Given the description of an element on the screen output the (x, y) to click on. 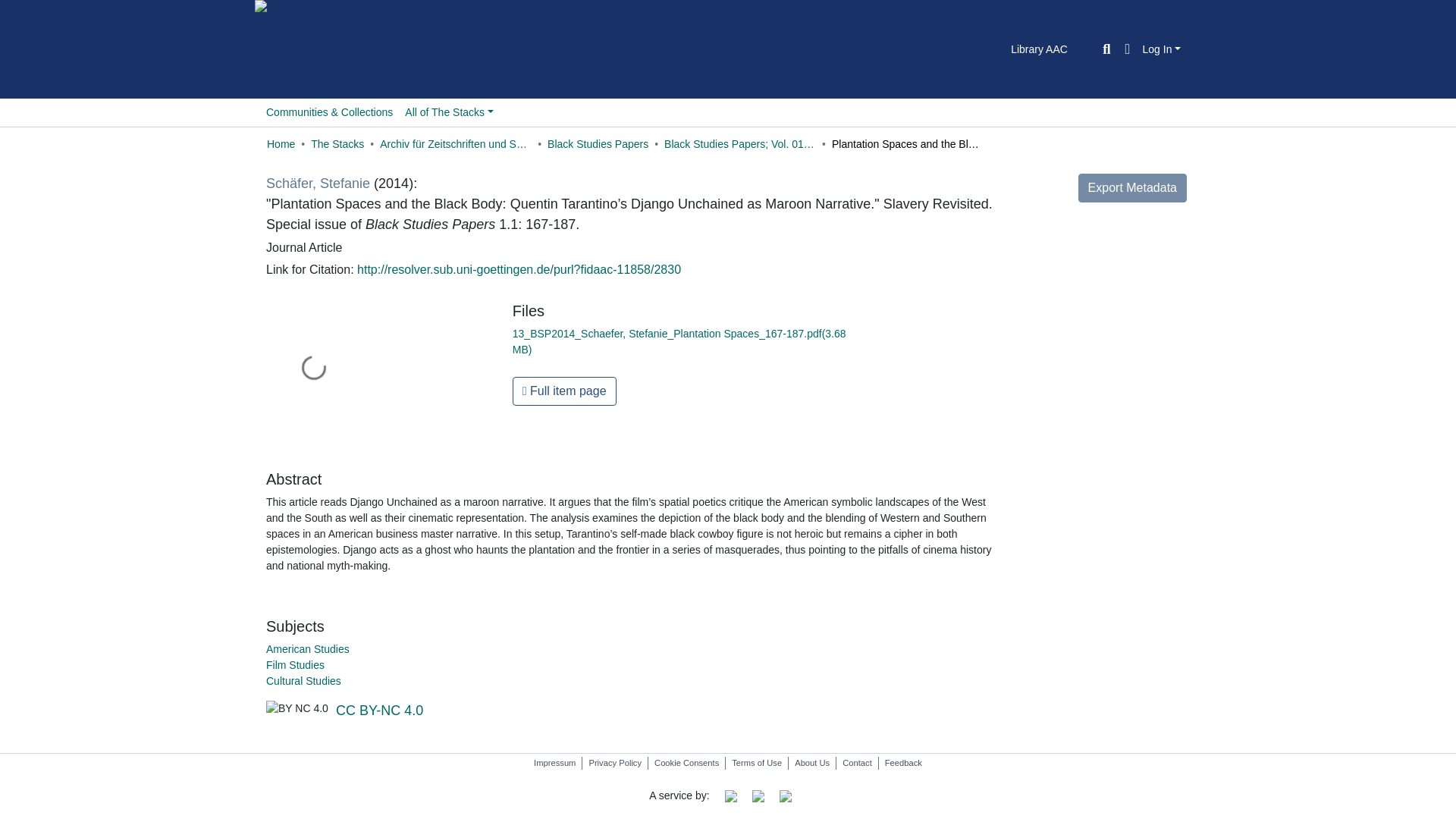
Export Metadata (1132, 187)
CC BY-NC 4.0 (379, 710)
Library AAC (1038, 48)
Search (1106, 48)
Full item page (563, 390)
Language switch (1126, 48)
Impressum (553, 762)
The Stacks (337, 144)
Feedback (903, 762)
Privacy Policy (614, 762)
Cultural Studies (303, 680)
Log In (1160, 48)
DFG (758, 795)
Home (280, 144)
Contact (856, 762)
